Given the description of an element on the screen output the (x, y) to click on. 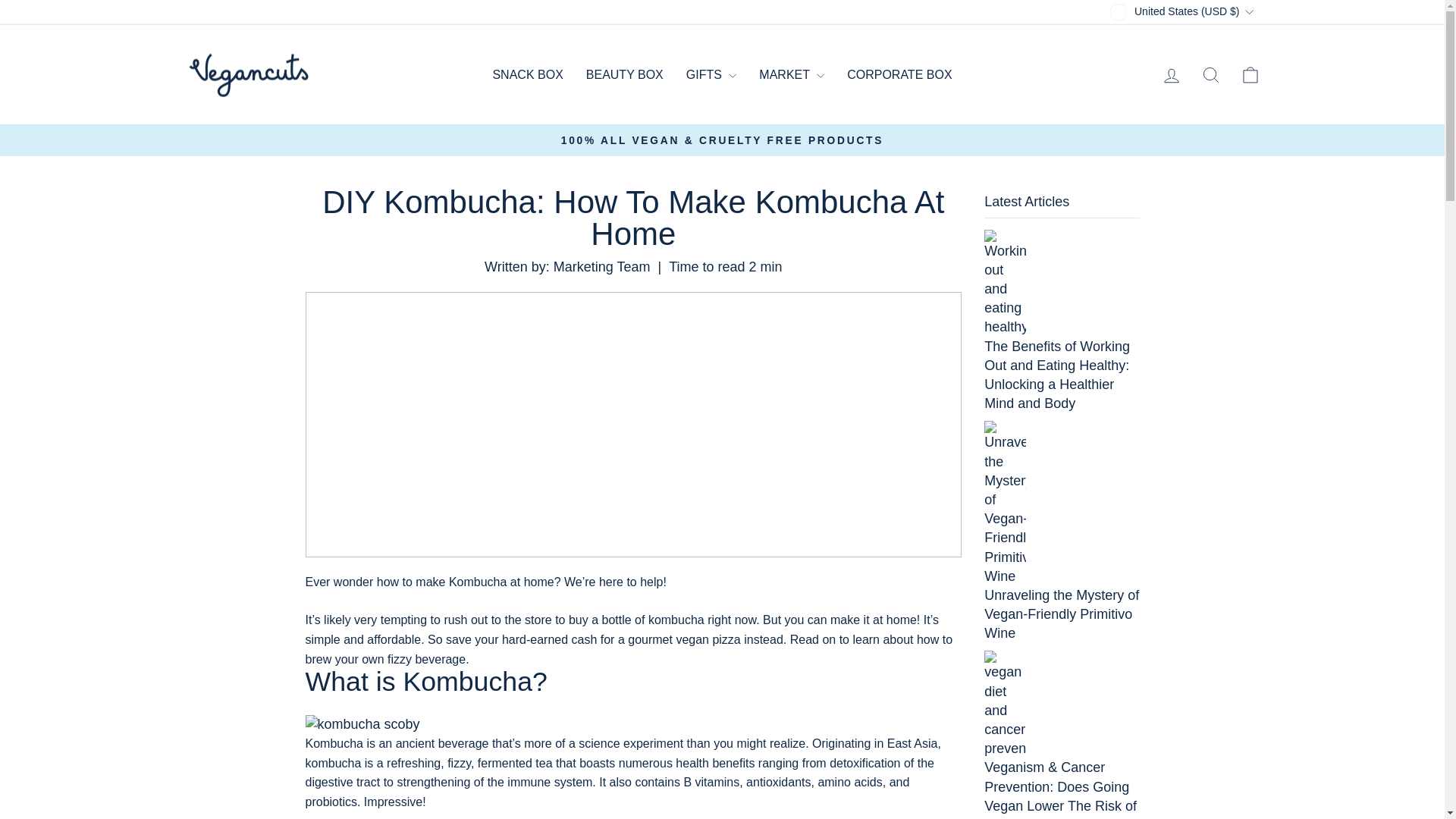
ICON-BAG-MINIMAL (1249, 74)
kombucha-scoby (632, 723)
ICON-SEARCH (1210, 74)
ACCOUNT (1170, 75)
